Given the description of an element on the screen output the (x, y) to click on. 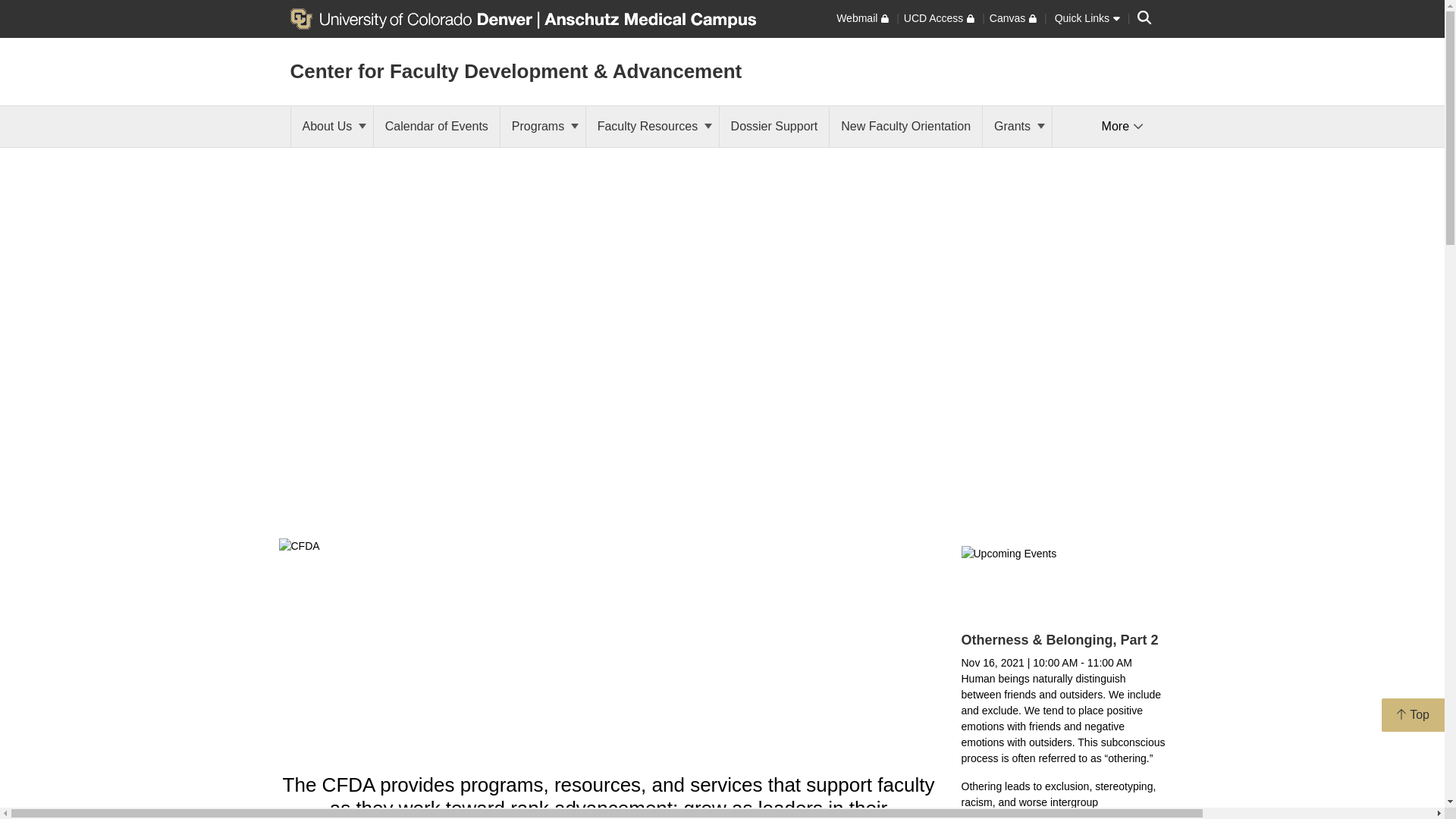
About Us (331, 126)
Upcoming Events (1063, 580)
Back to top (1412, 715)
Webmail (861, 18)
UCD Access (939, 18)
University of Colorado Anschutz Medical Campus (646, 17)
University of Colorado Denver (413, 17)
Canvas (1013, 18)
Quick Links (1086, 18)
